Given the description of an element on the screen output the (x, y) to click on. 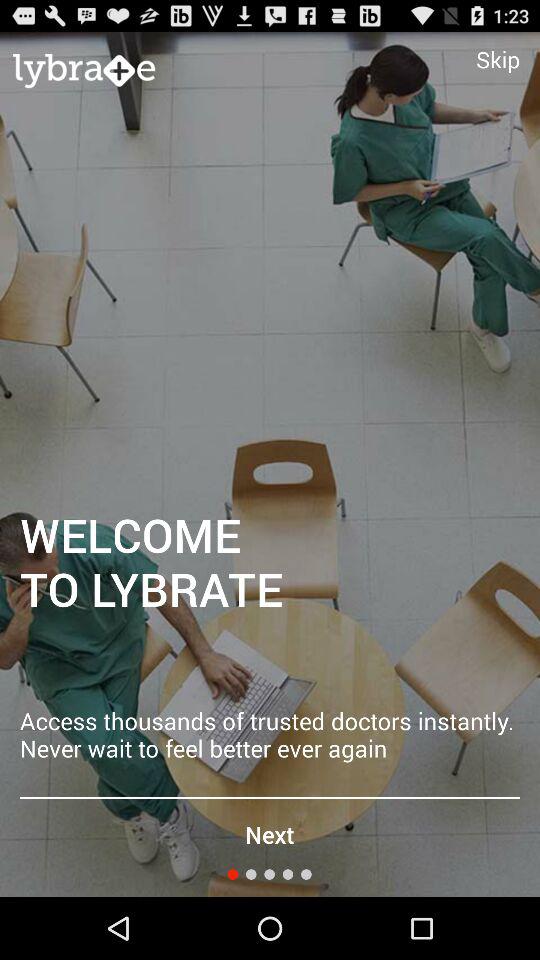
select next (269, 834)
